Given the description of an element on the screen output the (x, y) to click on. 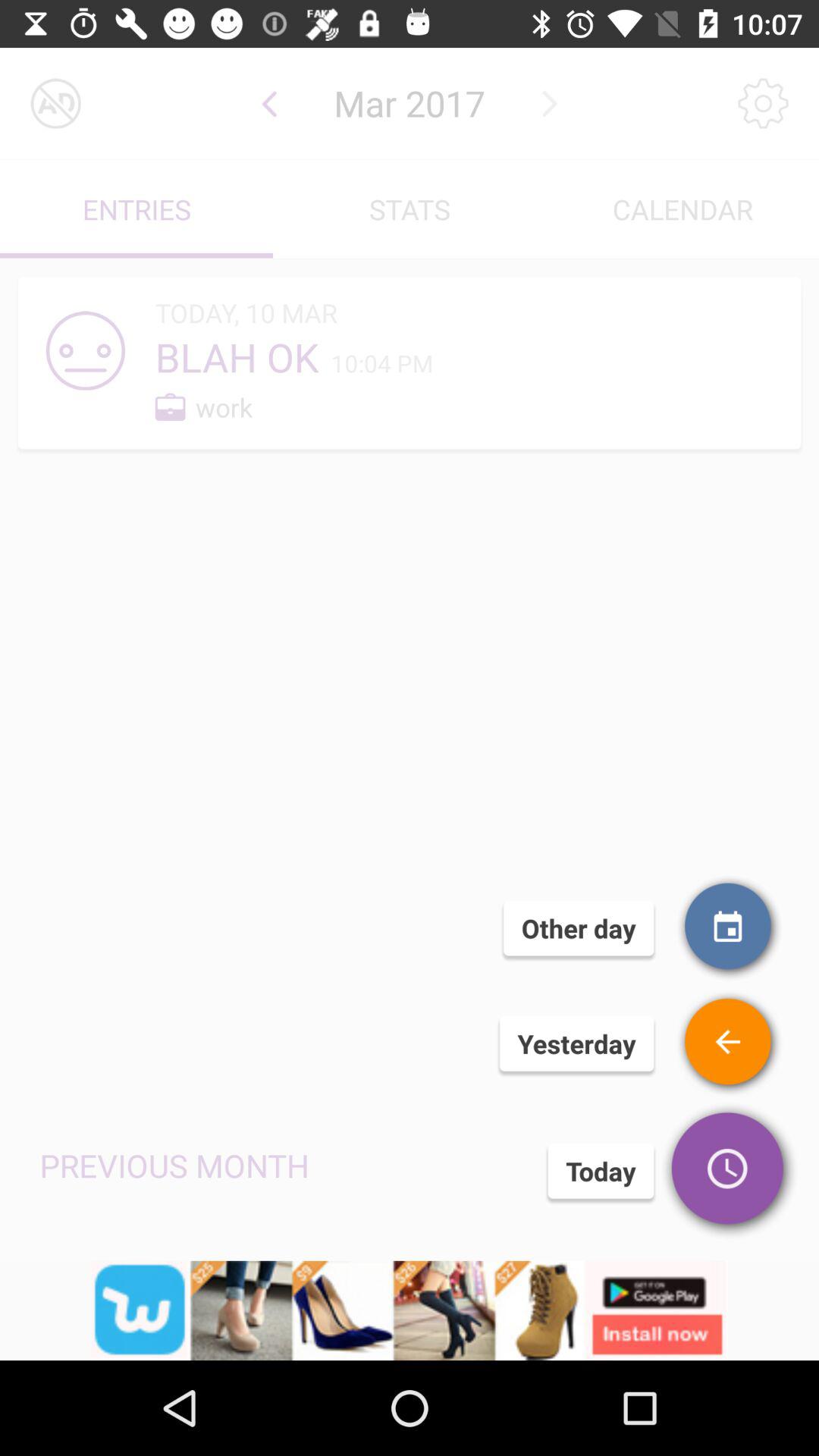
back button (729, 1043)
